Given the description of an element on the screen output the (x, y) to click on. 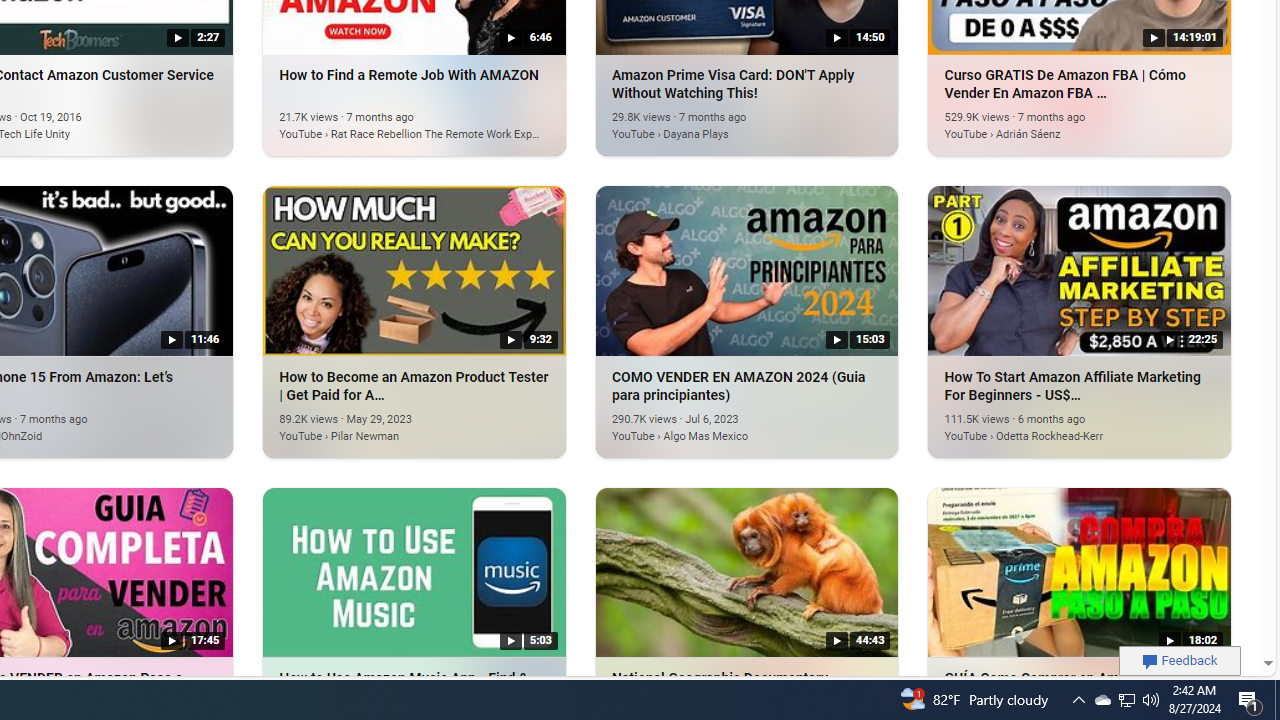
COMO VENDER EN AMAZON 2024 (Guia para principiantes) (717, 424)
